Given the description of an element on the screen output the (x, y) to click on. 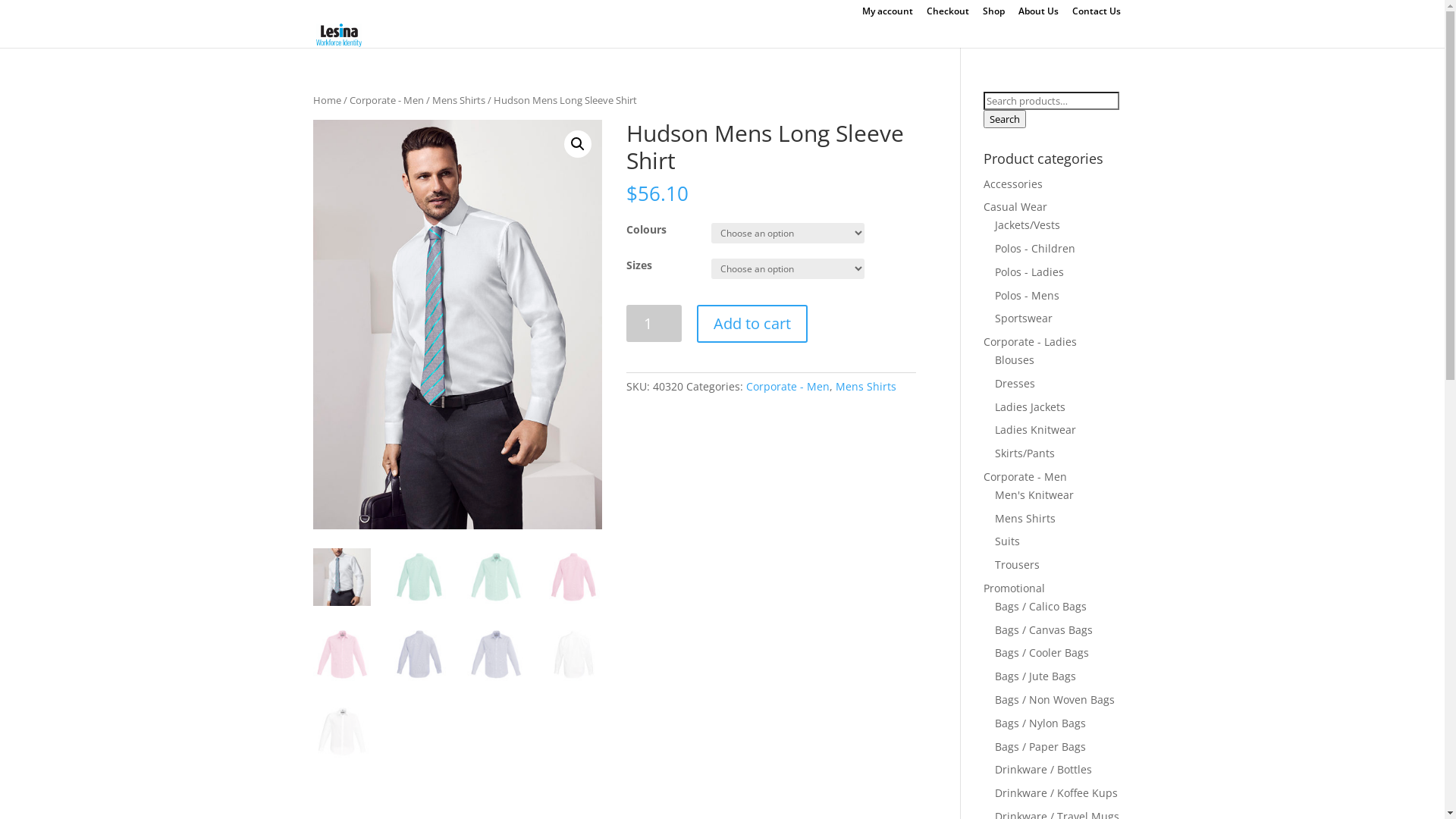
Bags / Canvas Bags Element type: text (1043, 629)
Corporate - Men Element type: text (385, 99)
Bags / Non Woven Bags Element type: text (1054, 699)
Shop Element type: text (993, 14)
Mens Shirts Element type: text (1024, 518)
Skirts/Pants Element type: text (1024, 452)
Mens Shirts Element type: text (458, 99)
Corporate - Men Element type: text (1024, 476)
Bags / Cooler Bags Element type: text (1041, 652)
Trousers Element type: text (1016, 564)
Bags / Nylon Bags Element type: text (1039, 722)
Polos - Mens Element type: text (1026, 295)
Contact Us Element type: text (1096, 14)
My account Element type: text (886, 14)
Home Element type: text (326, 99)
Accessories Element type: text (1012, 183)
Qty Element type: hover (653, 323)
Corporate - Men Element type: text (787, 386)
Promotional Element type: text (1013, 587)
Polos - Children Element type: text (1034, 248)
Add to cart Element type: text (751, 323)
Sportswear Element type: text (1023, 317)
Checkout Element type: text (947, 14)
Bags / Calico Bags Element type: text (1040, 606)
Men's Knitwear Element type: text (1033, 494)
Drinkware / Bottles Element type: text (1043, 769)
Jackets/Vests Element type: text (1027, 224)
Blouses Element type: text (1014, 359)
Dresses Element type: text (1014, 383)
Suits Element type: text (1006, 540)
Bags / Paper Bags Element type: text (1039, 746)
About Us Element type: text (1037, 14)
Search Element type: text (1004, 118)
Polos - Ladies Element type: text (1028, 271)
Mens Shirts Element type: text (865, 386)
Drinkware / Koffee Kups Element type: text (1055, 792)
Bags / Jute Bags Element type: text (1035, 675)
Ladies Knitwear Element type: text (1035, 429)
Casual Wear Element type: text (1015, 206)
Ladies Jackets Element type: text (1029, 406)
Corporate - Ladies Element type: text (1029, 341)
40320 Element type: hover (457, 324)
